Given the description of an element on the screen output the (x, y) to click on. 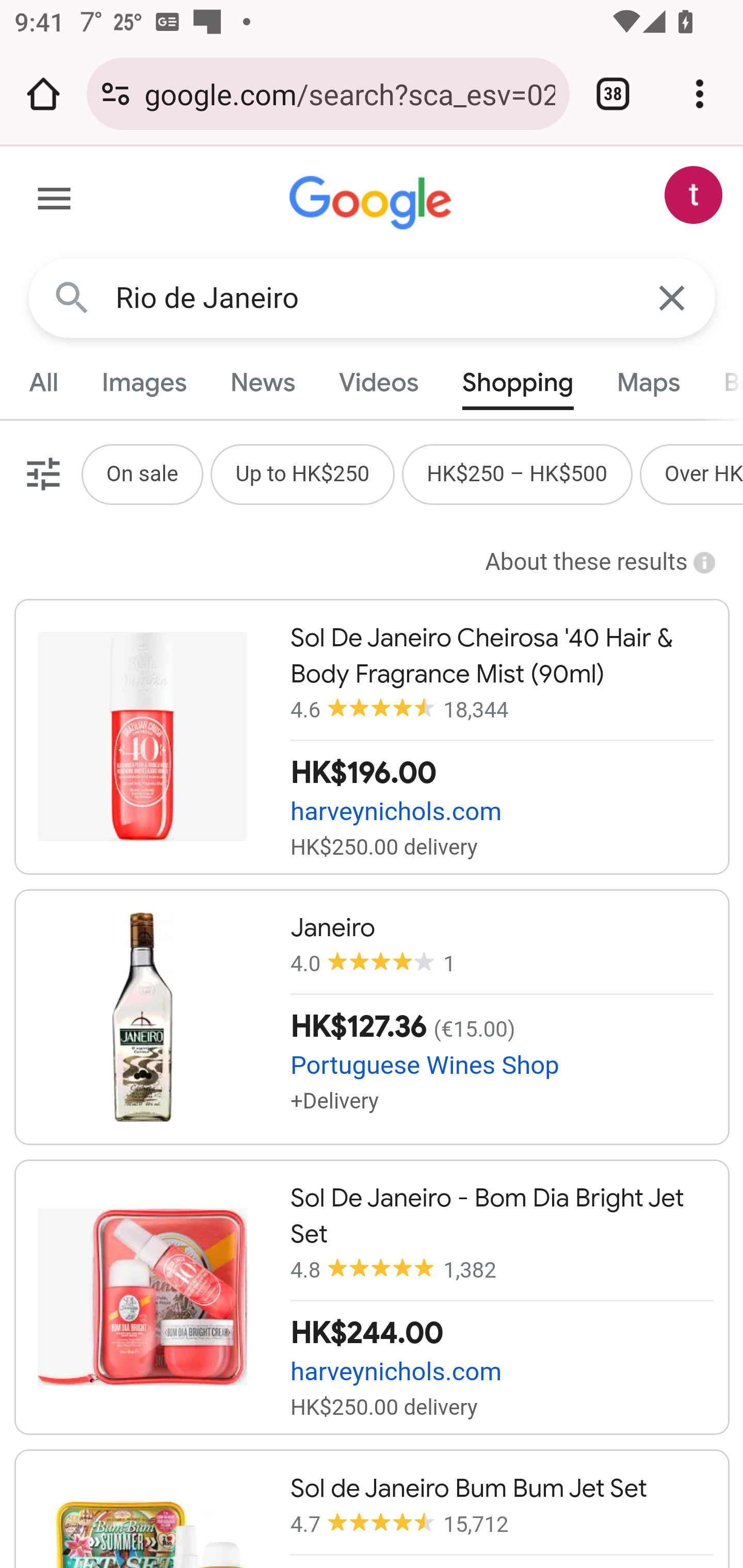
Open the home page (43, 93)
Connection is secure (115, 93)
Switch or close tabs (612, 93)
Customize and control Google Chrome (699, 93)
Main menu (54, 202)
Google (372, 203)
Google Search (71, 296)
Clear Search (672, 296)
Rio de Janeiro (372, 297)
All (43, 382)
Images (144, 382)
News (262, 382)
Videos (378, 382)
Maps (647, 382)
Filters.0 filters applied. (41, 473)
On sale (141, 473)
Up to HK$250 (302, 473)
HK$250 – HK$500 (517, 473)
Over HK$500 (703, 473)
Janeiro (371, 1016)
Sol De Janeiro - Bom Dia Bright Jet Set (371, 1296)
Sol de Janeiro Bum Bum Jet Set (371, 1508)
